Given the description of an element on the screen output the (x, y) to click on. 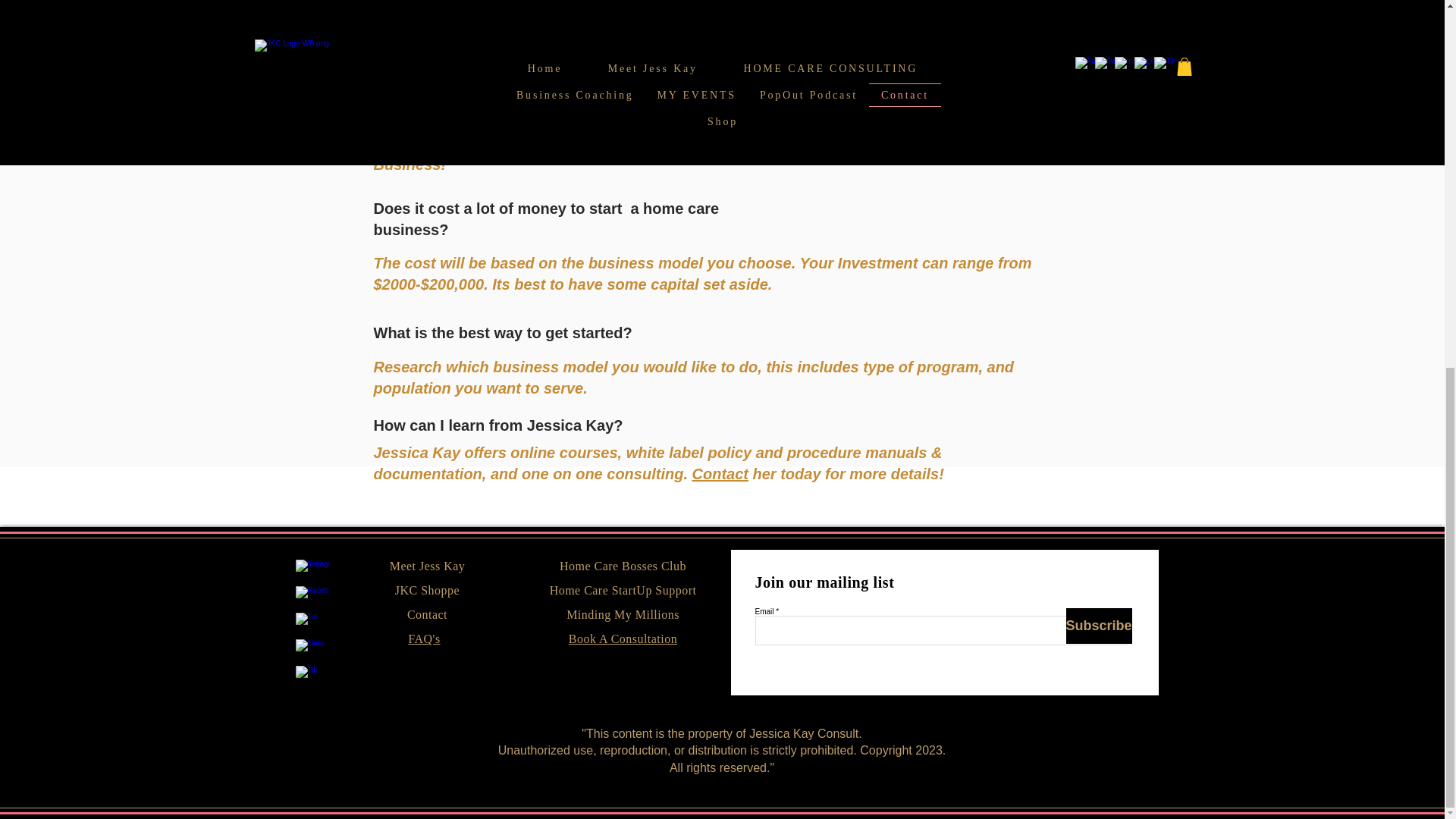
Home Care StartUp Support (623, 590)
Subscribe (1098, 625)
Meet Jess Kay (427, 565)
Book A Consultation (623, 638)
Minding My Millions (622, 614)
Contact (719, 474)
Home Care Bosses Club (622, 565)
